Given the description of an element on the screen output the (x, y) to click on. 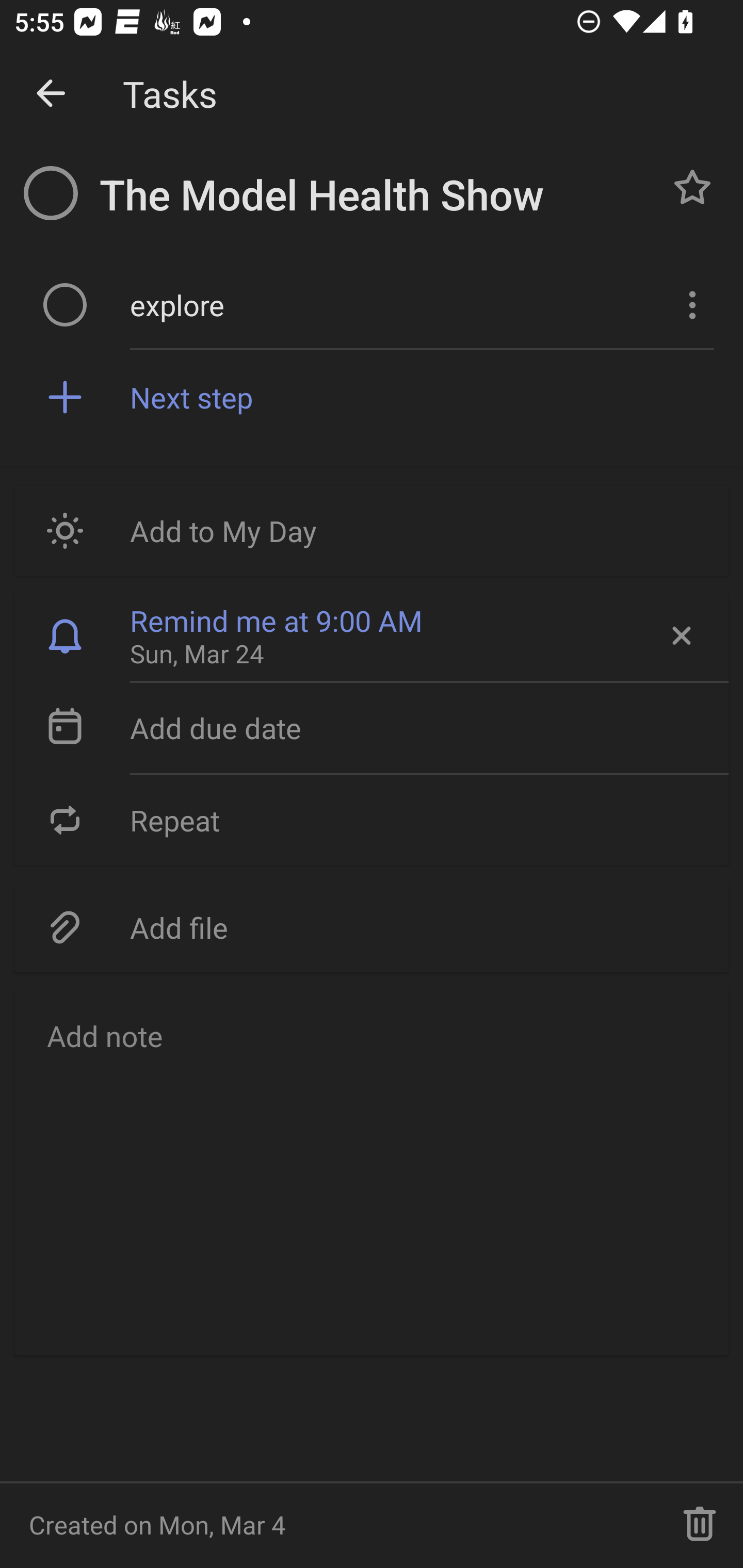
Dismiss detail view (50, 93)
Incomplete task The Model Health Show, Button (50, 192)
The Model Health Show (374, 195)
Normal task The Model Health Show, Button (692, 187)
explore (393, 304)
More Options (690, 304)
Uncompleted, explore, step, Button (64, 304)
Next step (422, 396)
Add to My Day (371, 530)
Remind me at 9:00 AM Sun, Mar 24 Remove reminder (371, 635)
Remove reminder (679, 635)
Add due date (371, 728)
Repeat (371, 819)
Add file (371, 926)
Add note, Button Email Renderer Add note (371, 1170)
Delete task (699, 1524)
